Given the description of an element on the screen output the (x, y) to click on. 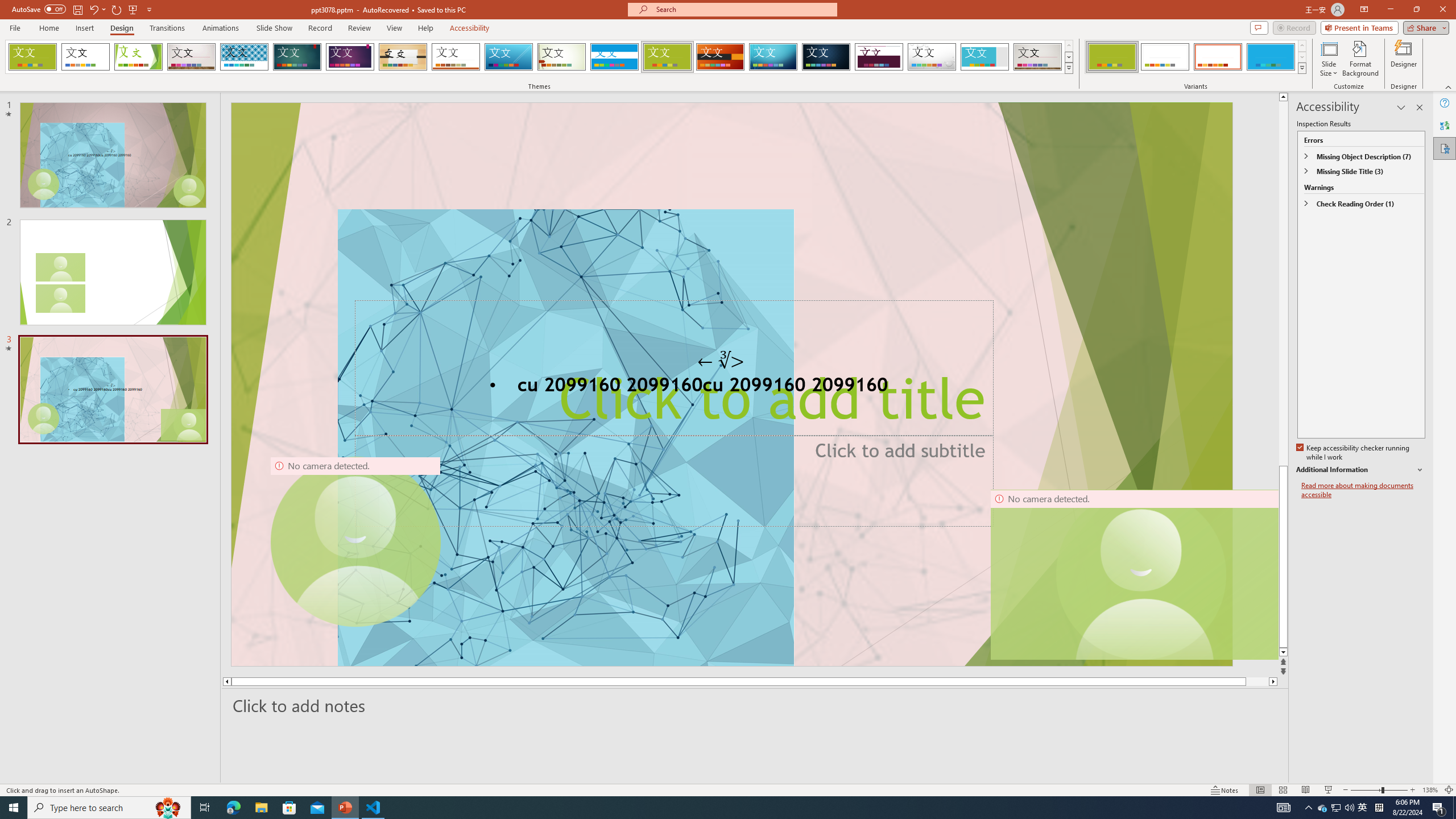
Ion Boardroom (350, 56)
Gallery (1037, 56)
Read more about making documents accessible (1363, 489)
